Given the description of an element on the screen output the (x, y) to click on. 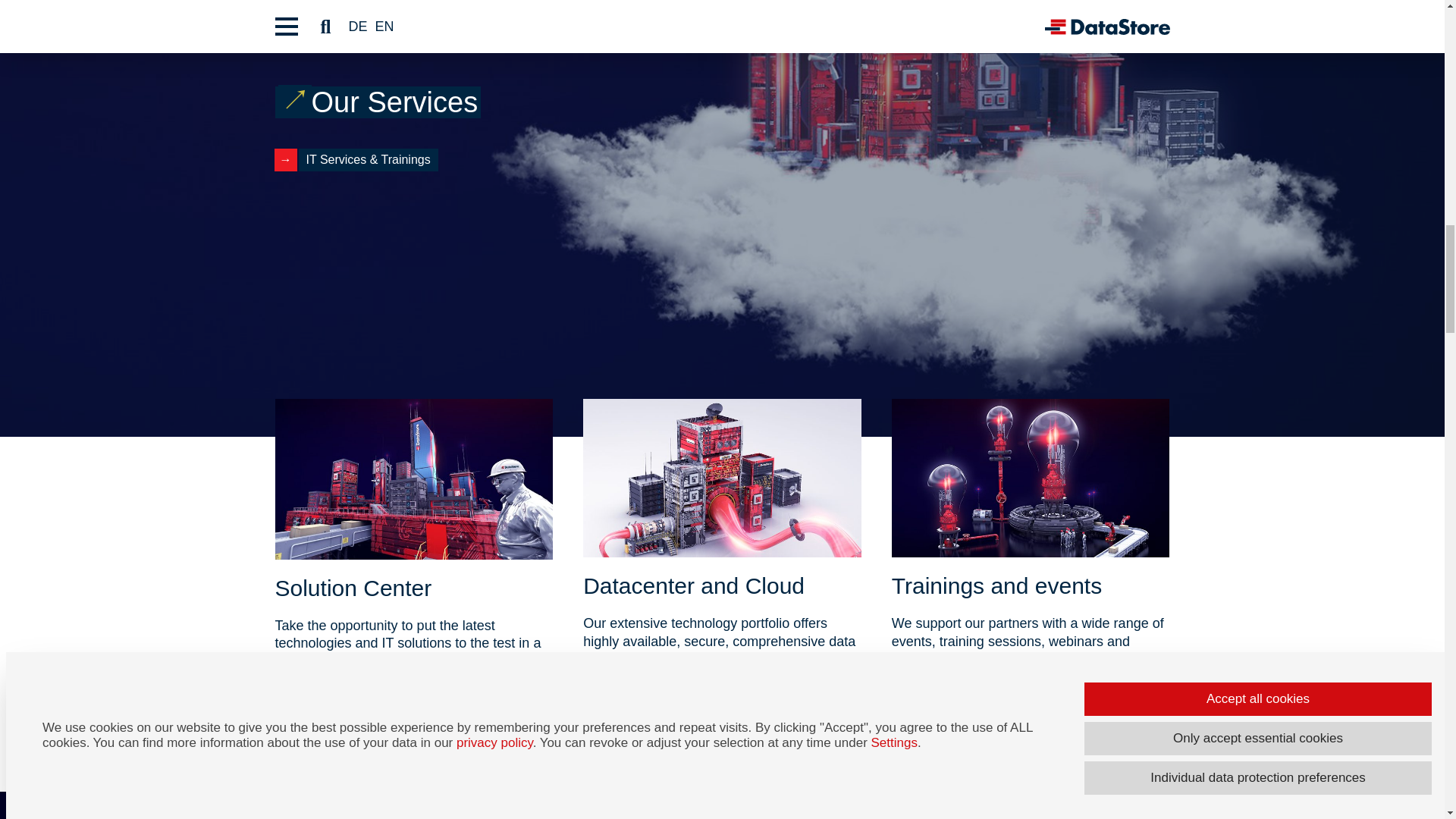
Register now (958, 694)
More informations (354, 696)
Our portfolio (647, 694)
